Given the description of an element on the screen output the (x, y) to click on. 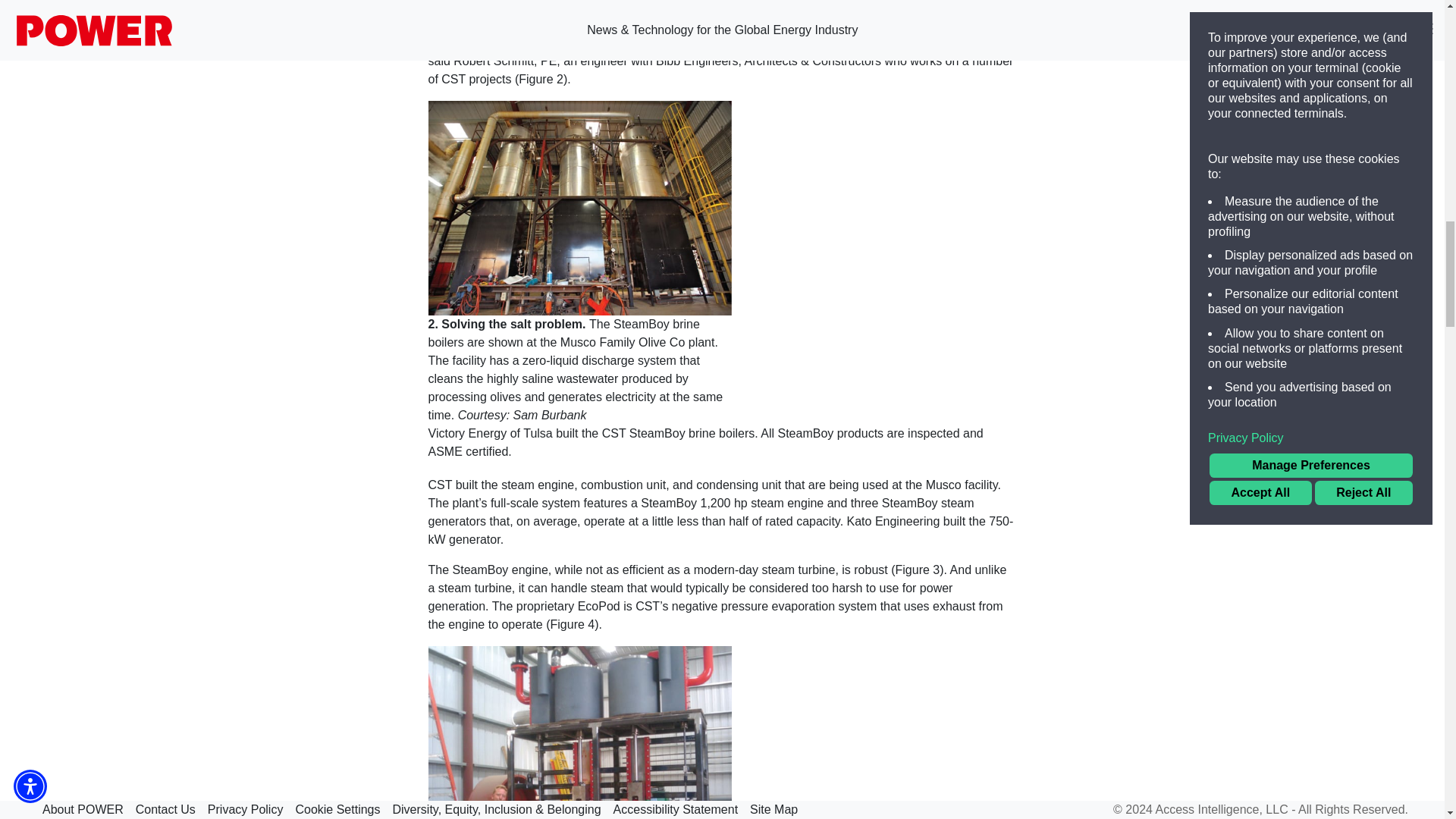
3rd party ad content (1181, 728)
